Given the description of an element on the screen output the (x, y) to click on. 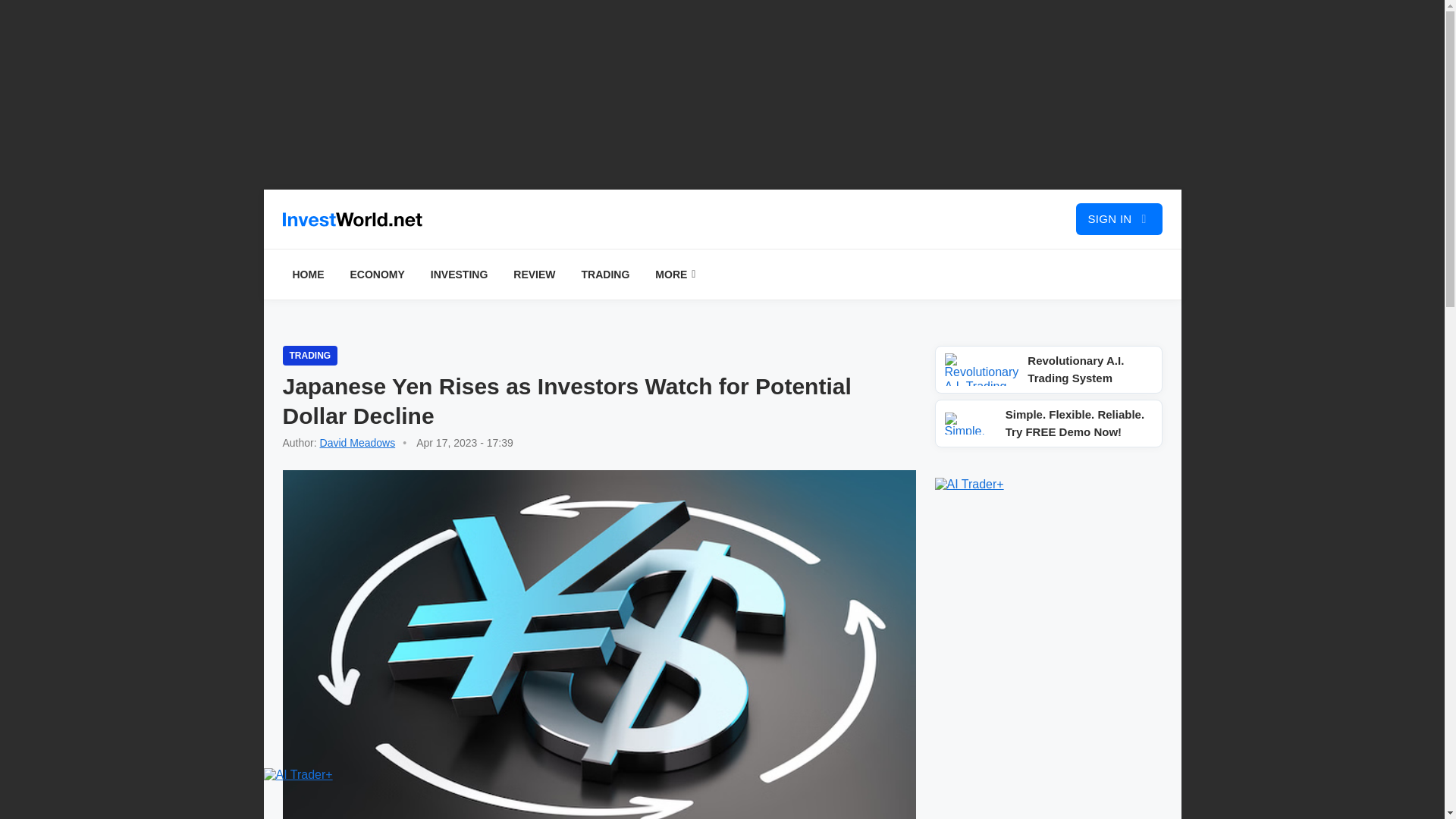
HOME (307, 274)
SIGN IN (1118, 219)
MORE (674, 274)
ECONOMY (376, 274)
INVESTING (458, 274)
TRADING (606, 274)
REVIEW (533, 274)
TRADING (309, 355)
David Meadows (358, 442)
